Given the description of an element on the screen output the (x, y) to click on. 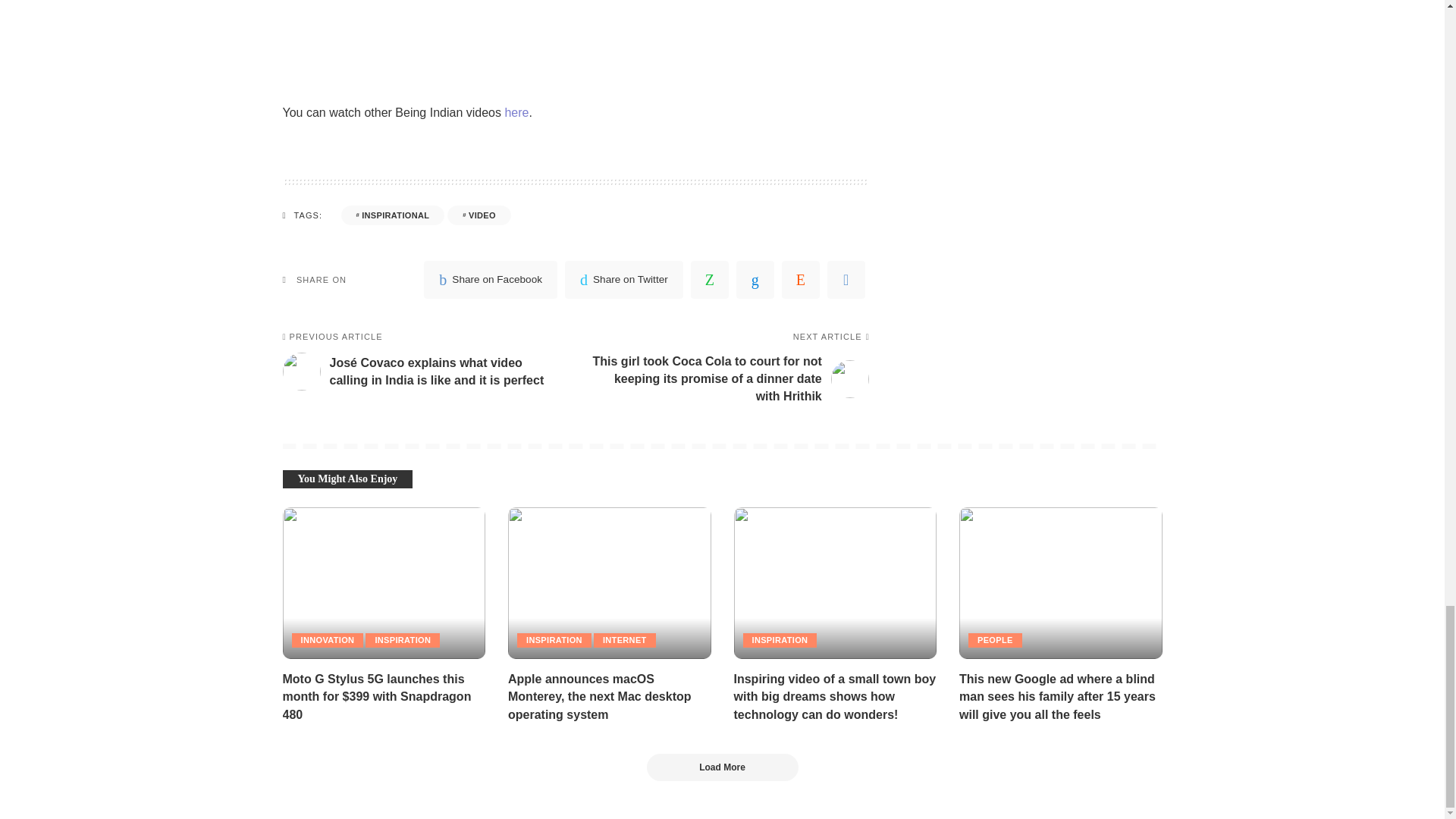
WhatsApp (709, 279)
Video (478, 215)
Facebook (490, 279)
Inspirational (392, 215)
Twitter (623, 279)
